Given the description of an element on the screen output the (x, y) to click on. 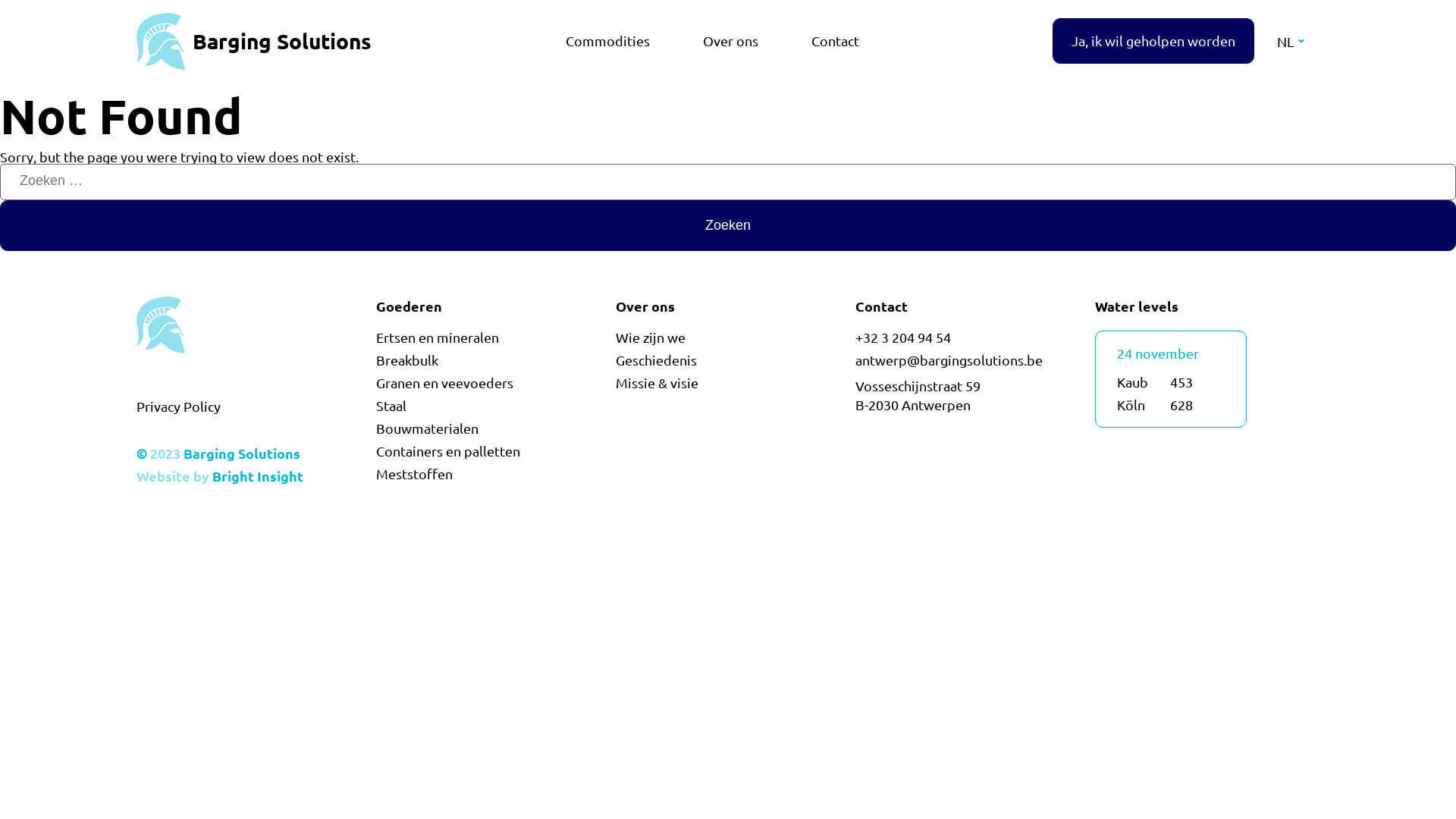
Over ons Element type: text (730, 40)
Ertsen en mineralen Element type: text (437, 337)
antwerp@bargingsolutions.be Element type: text (948, 360)
Vosseschijnstraat 59
B-2030 Antwerpen Element type: text (917, 395)
Privacy Policy Element type: text (178, 406)
Bouwmaterialen Element type: text (427, 428)
Granen en veevoeders Element type: text (444, 382)
Containers en palletten Element type: text (448, 451)
Staal Element type: text (391, 405)
+32 3 204 94 54 Element type: text (902, 337)
NL Element type: text (1290, 40)
Barging Solutions Element type: text (253, 40)
Bright Insight Element type: text (257, 476)
Commodities Element type: text (606, 40)
Meststoffen Element type: text (414, 473)
Geschiedenis Element type: text (655, 360)
Missie & visie Element type: text (656, 382)
Wie zijn we Element type: text (650, 337)
Breakbulk Element type: text (407, 360)
Contact Element type: text (834, 40)
Ja, ik wil geholpen worden Element type: text (1153, 40)
